Given the description of an element on the screen output the (x, y) to click on. 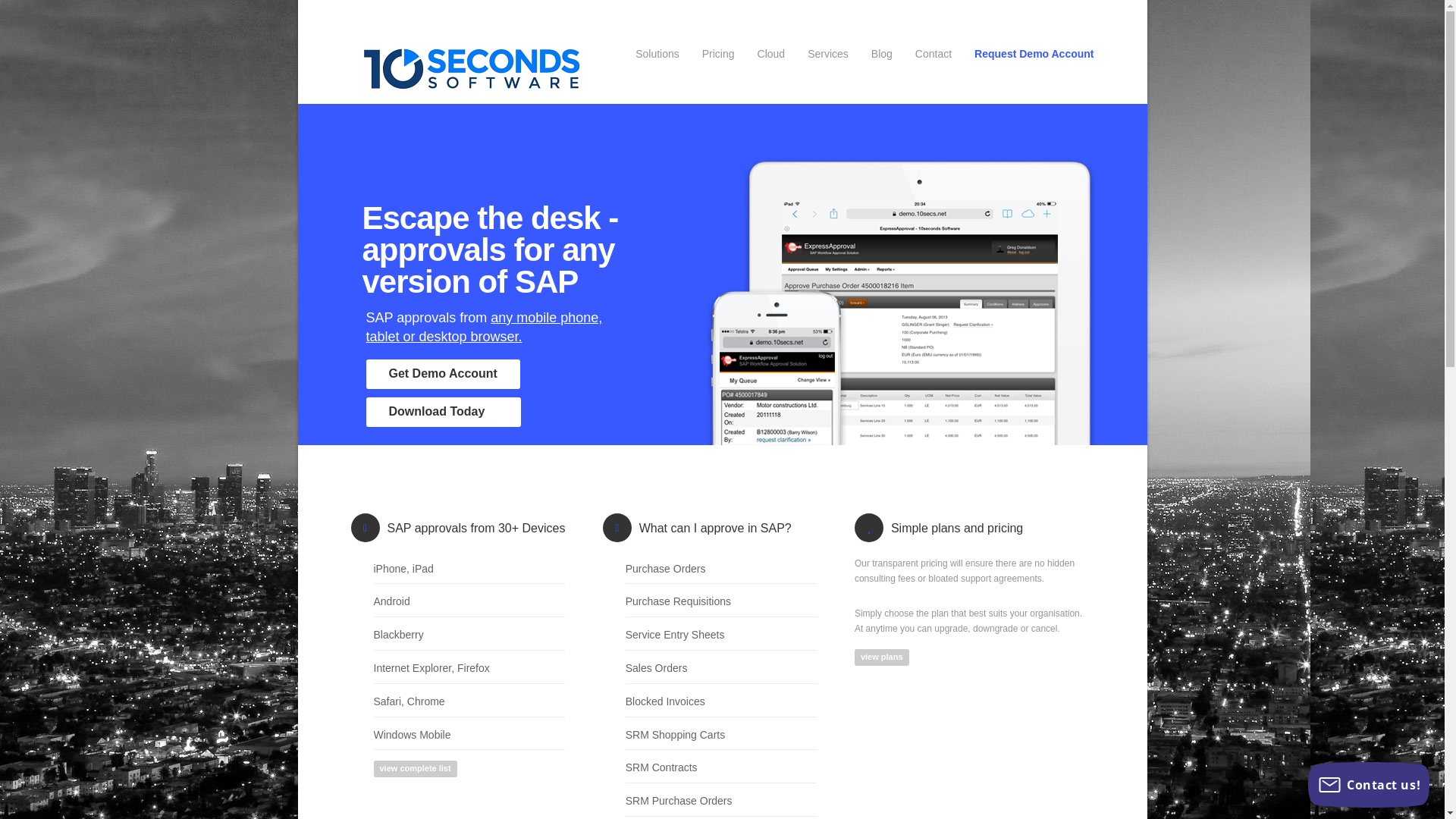
Blog Element type: text (881, 56)
Get Demo Account Element type: text (442, 374)
Pricing Element type: text (718, 56)
Contact Element type: text (933, 56)
Cloud Element type: text (771, 56)
Solutions Element type: text (657, 56)
any mobile phone,
tablet or desktop browser. Element type: text (483, 327)
view complete list Element type: text (414, 768)
Contact us! Element type: text (1368, 784)
Download Today     Element type: text (442, 411)
view plans Element type: text (881, 657)
Request Demo Account Element type: text (1033, 56)
Services Element type: text (827, 56)
